Given the description of an element on the screen output the (x, y) to click on. 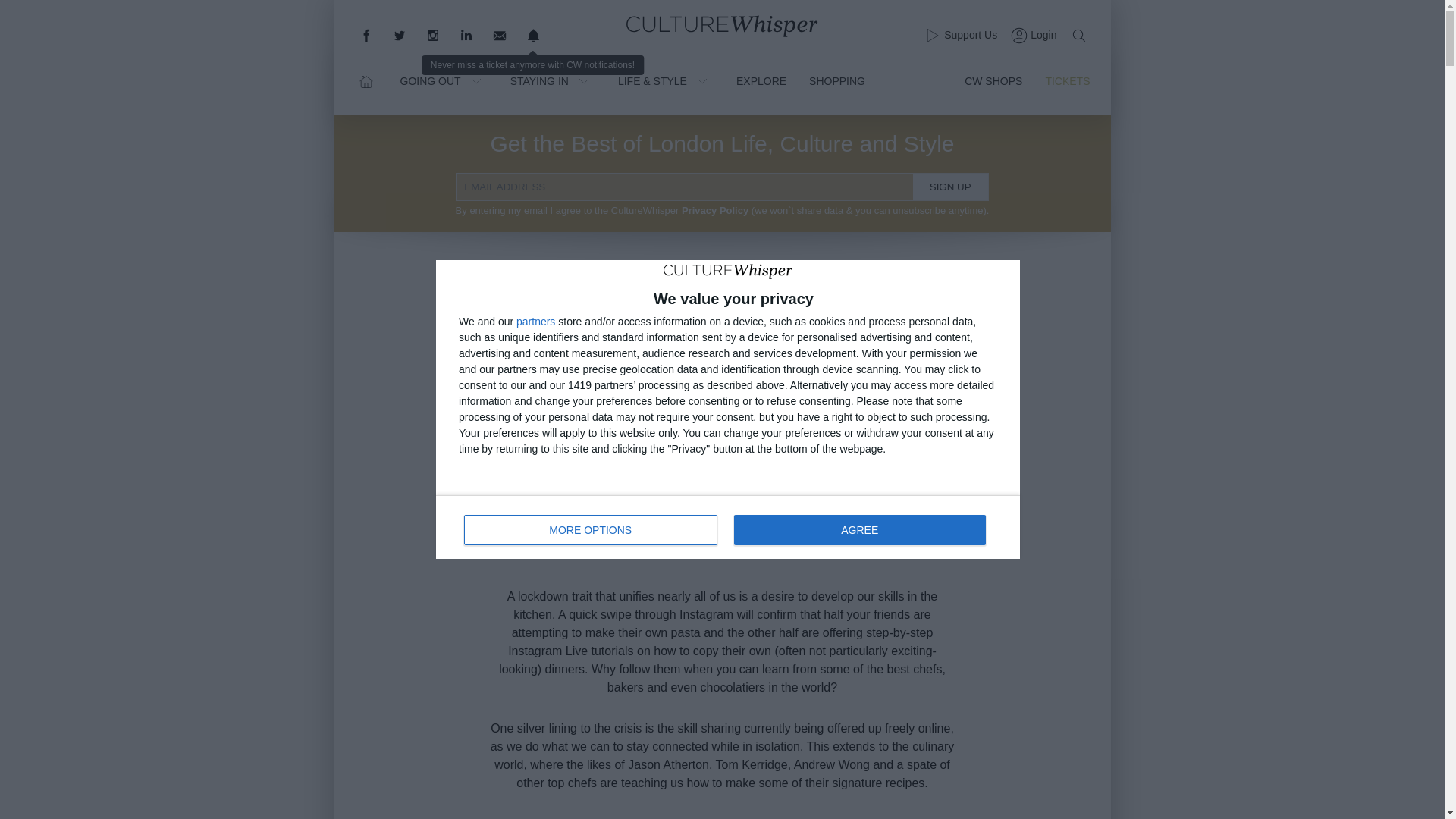
Support Us (959, 34)
AGREE (859, 530)
partners (535, 321)
Search (1078, 35)
Log in (1032, 34)
STAYING IN (553, 80)
GOING OUT (443, 80)
Support Us (959, 34)
sign up (727, 526)
